Given the description of an element on the screen output the (x, y) to click on. 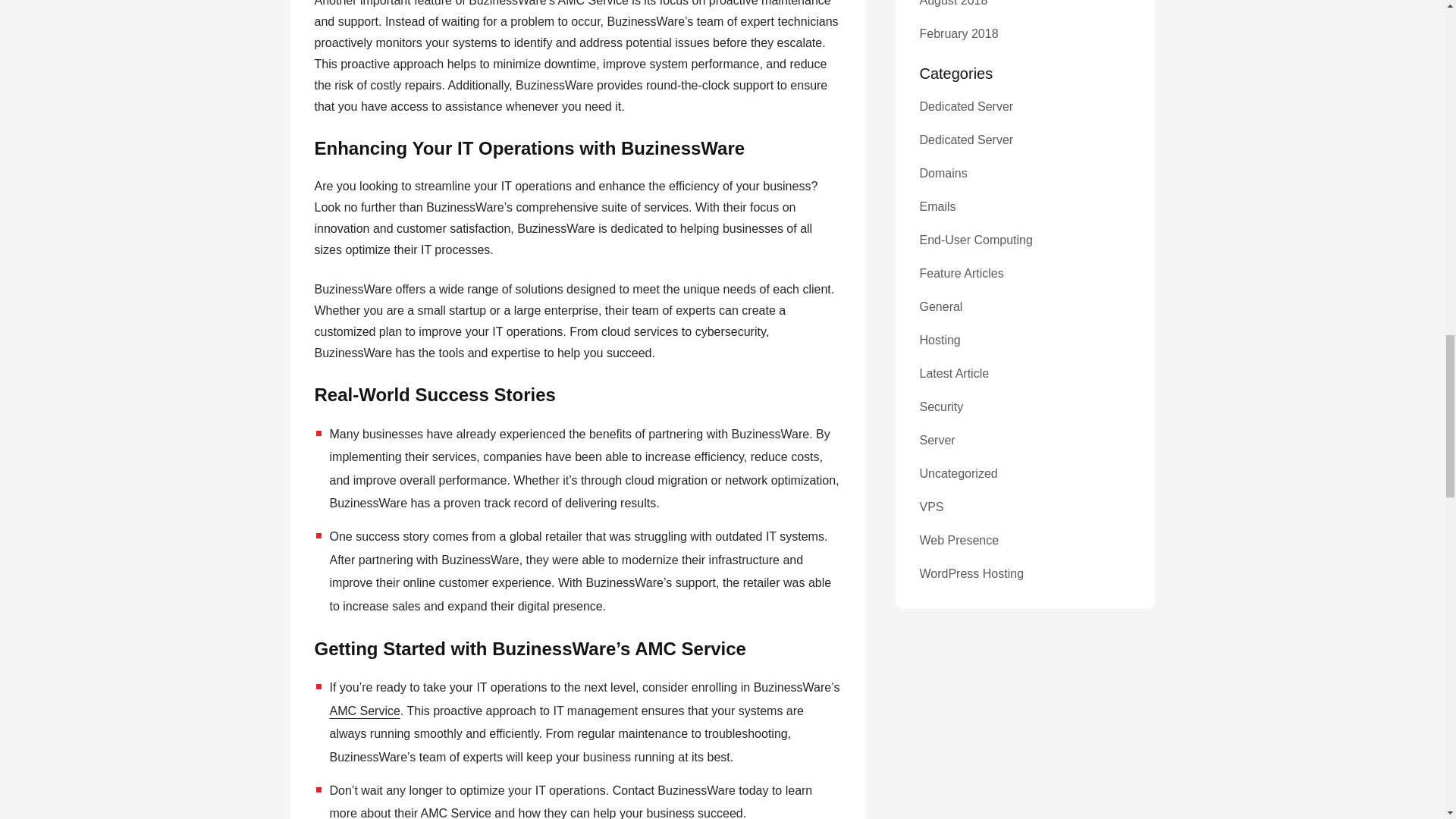
AMC Service (363, 710)
